Given the description of an element on the screen output the (x, y) to click on. 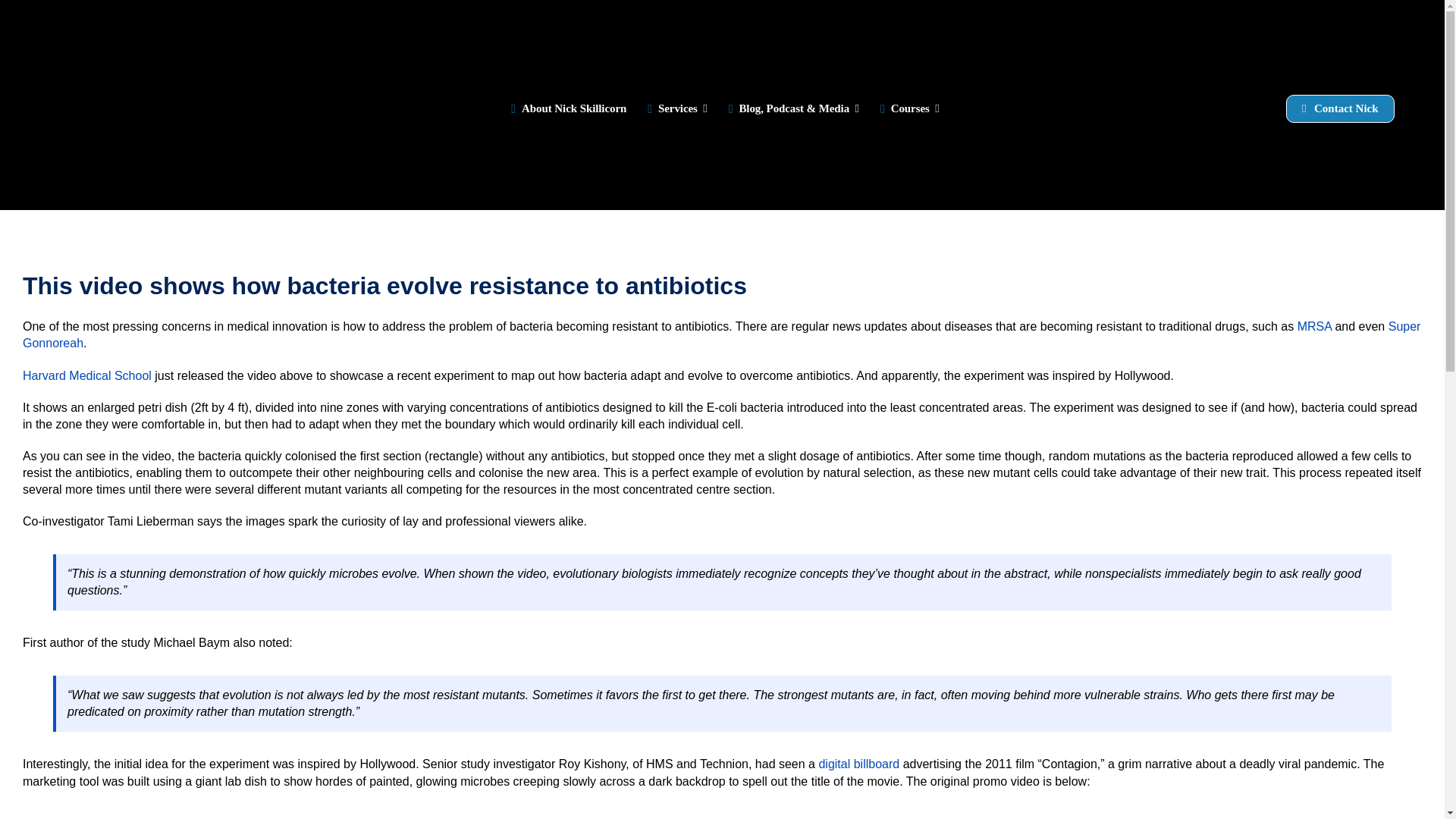
digital billboard (858, 763)
Courses (907, 105)
Harvard Medical School (87, 375)
Super Gonnoreah (722, 334)
Services (674, 105)
MRSA (1314, 326)
About Nick Skillicorn (565, 105)
Contact Nick (1339, 108)
